Given the description of an element on the screen output the (x, y) to click on. 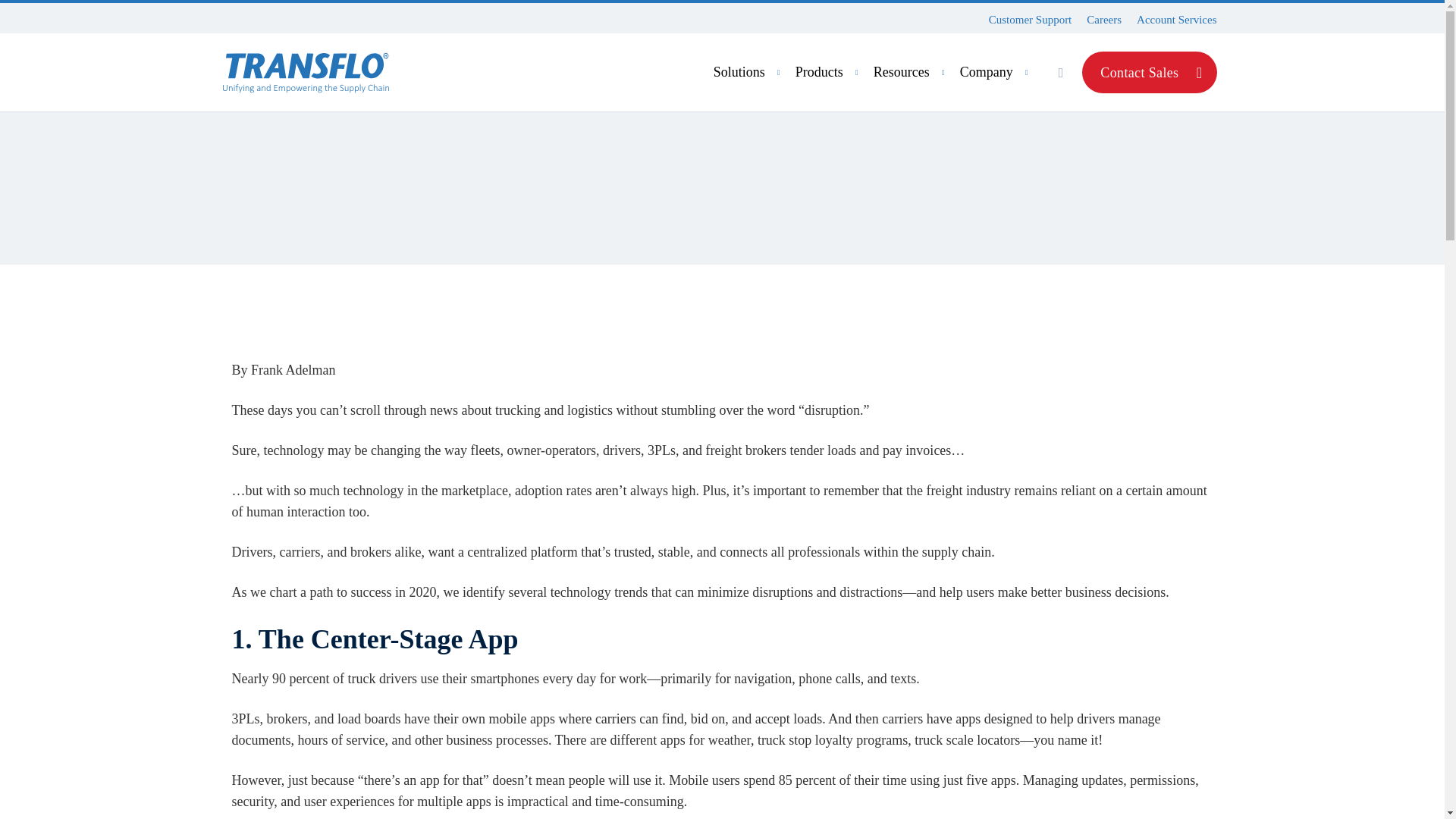
Customer Support (1029, 19)
Resources (911, 72)
Account Services (1176, 19)
Contact Sales (1148, 72)
Careers (1103, 19)
Solutions (878, 72)
